Given the description of an element on the screen output the (x, y) to click on. 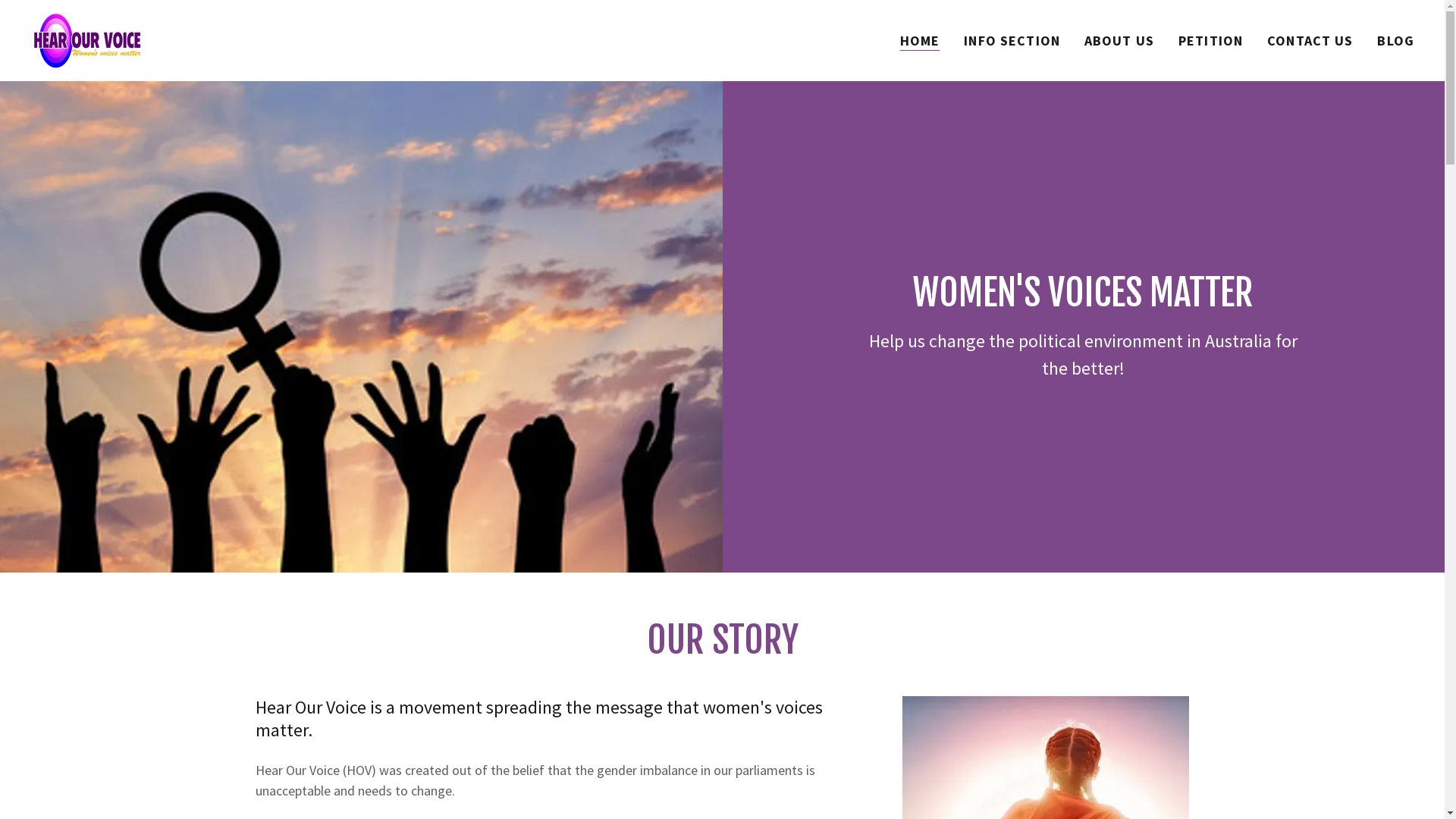
INFO SECTION Element type: text (1011, 40)
CONTACT US Element type: text (1309, 40)
HOME Element type: text (920, 40)
PETITION Element type: text (1210, 40)
BLOG Element type: text (1395, 40)
ABOUT US Element type: text (1118, 40)
